Given the description of an element on the screen output the (x, y) to click on. 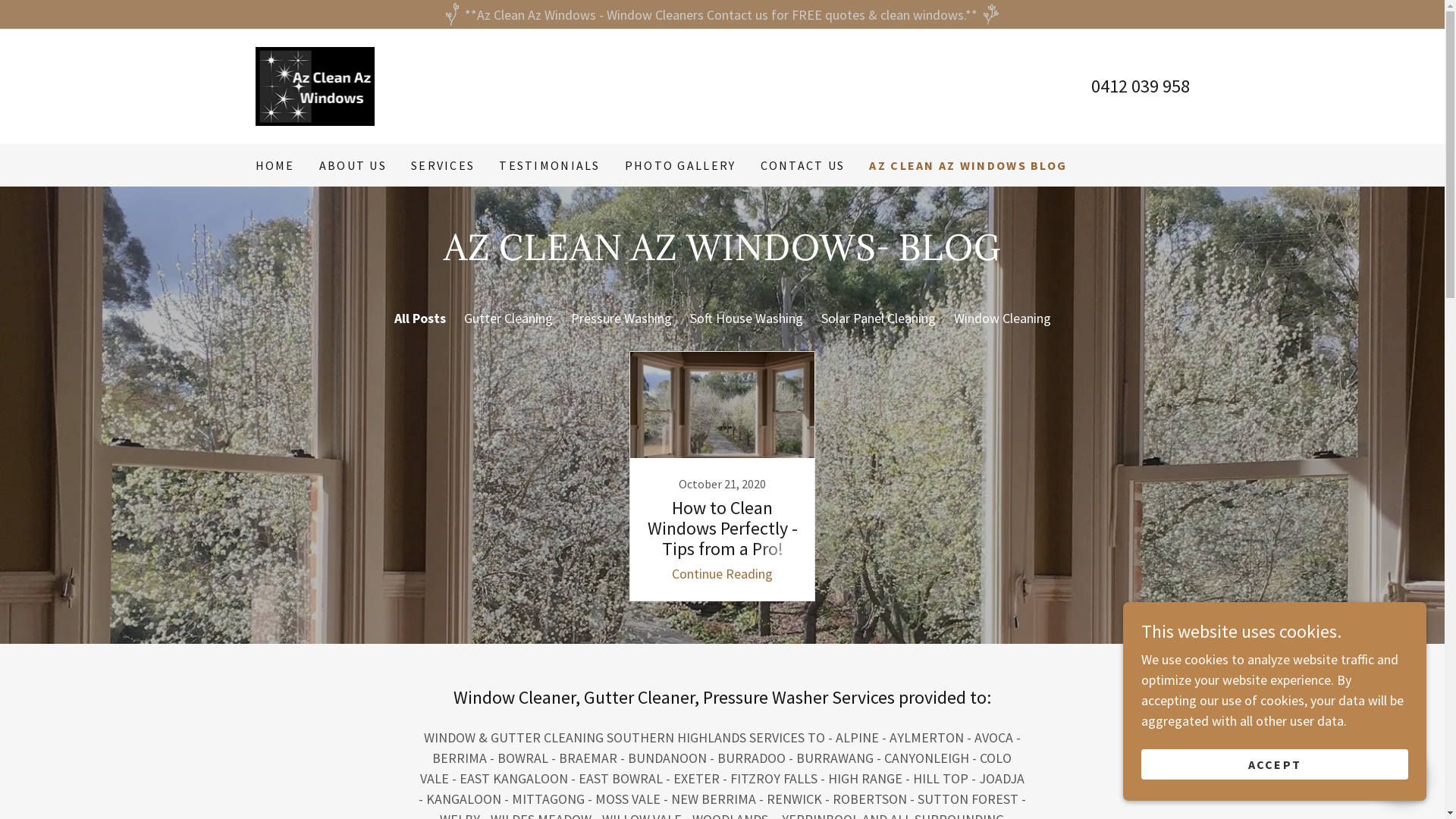
Soft House Washing Element type: text (746, 317)
Pressure Washing Element type: text (620, 317)
Gutter Cleaning Element type: text (508, 317)
All Posts Element type: text (419, 317)
TESTIMONIALS Element type: text (549, 164)
HOME Element type: text (274, 164)
PHOTO GALLERY Element type: text (680, 164)
0412 039 958 Element type: text (1139, 85)
Solar Panel Cleaning Element type: text (877, 317)
SERVICES Element type: text (442, 164)
CONTACT US Element type: text (802, 164)
  AZ Clean Az Windows Element type: hover (314, 84)
AZ CLEAN AZ WINDOWS BLOG Element type: text (967, 165)
ACCEPT Element type: text (1274, 764)
Window Cleaning Element type: text (1002, 317)
ABOUT US Element type: text (352, 164)
